Given the description of an element on the screen output the (x, y) to click on. 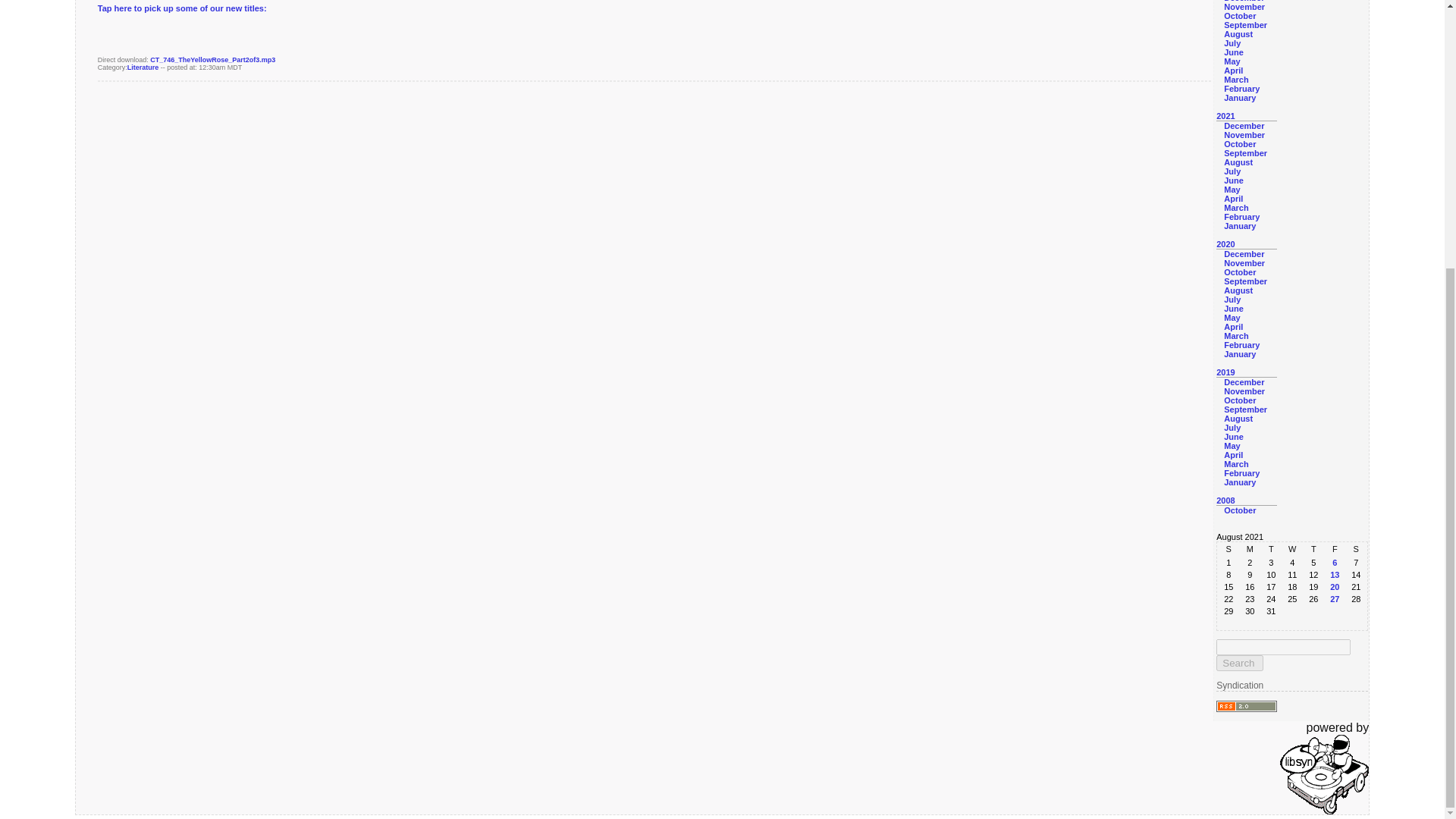
February (1241, 88)
January (1239, 97)
December (1243, 125)
November (1244, 6)
April (1233, 70)
Sunday (1228, 548)
Friday (1333, 548)
November (1244, 134)
October (1239, 143)
Saturday (1355, 548)
2021 (1224, 115)
June (1233, 51)
Monday (1249, 548)
March (1235, 79)
May (1232, 61)
